Given the description of an element on the screen output the (x, y) to click on. 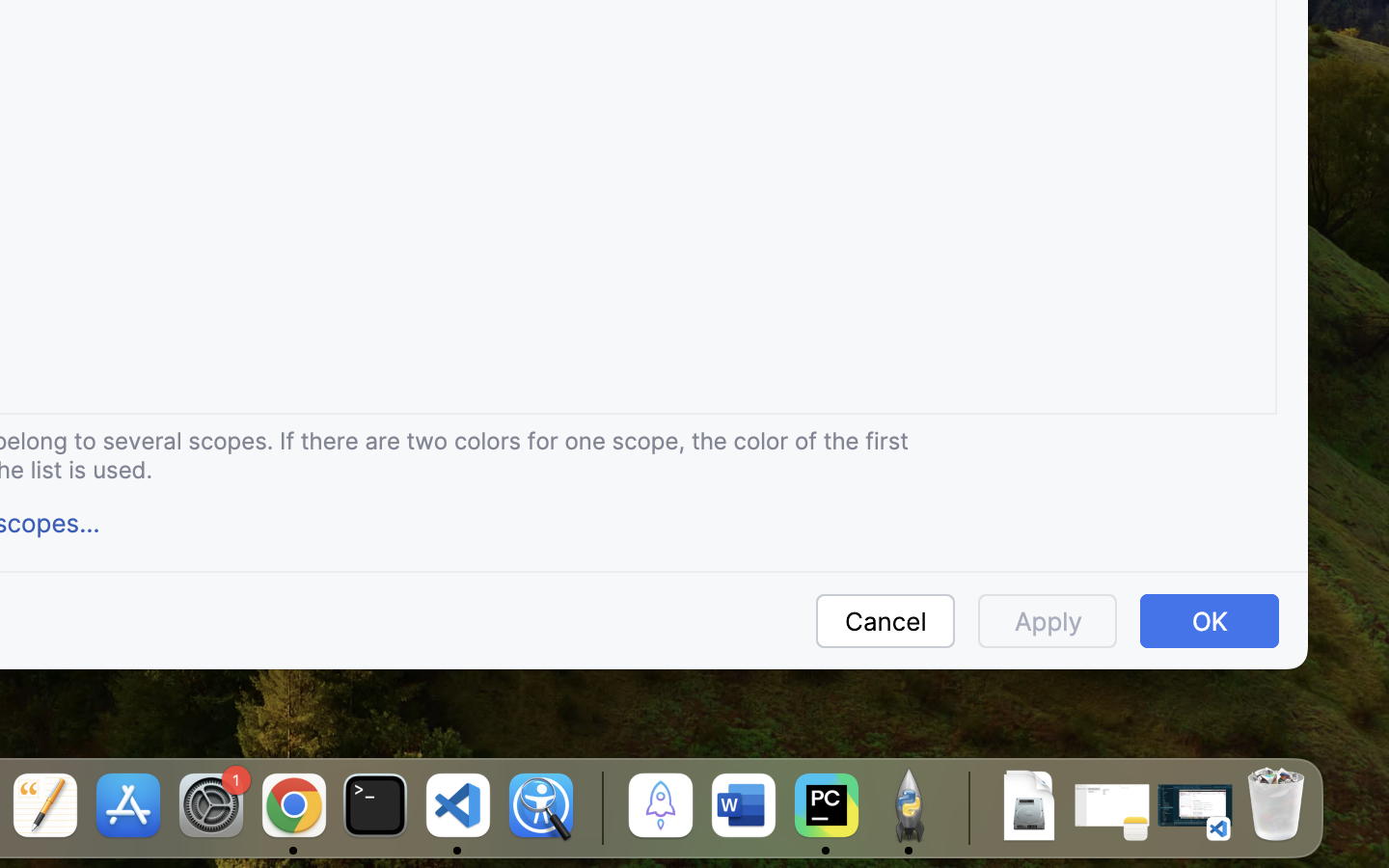
0.4285714328289032 Element type: AXDockItem (598, 807)
